Given the description of an element on the screen output the (x, y) to click on. 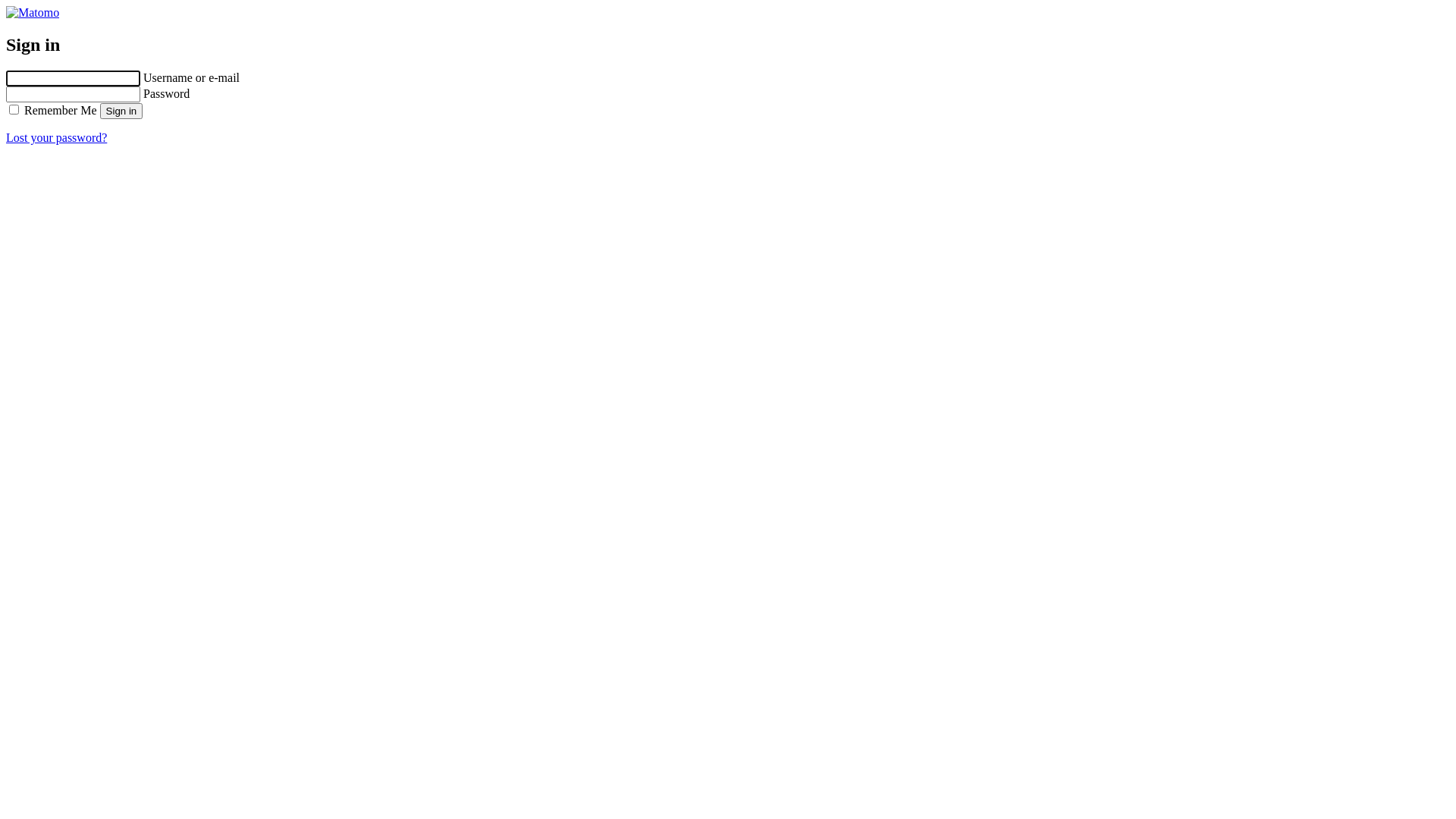
Matomo # free/libre analytics platform Element type: hover (32, 12)
Lost your password? Element type: text (56, 137)
Sign in Element type: text (121, 111)
